Given the description of an element on the screen output the (x, y) to click on. 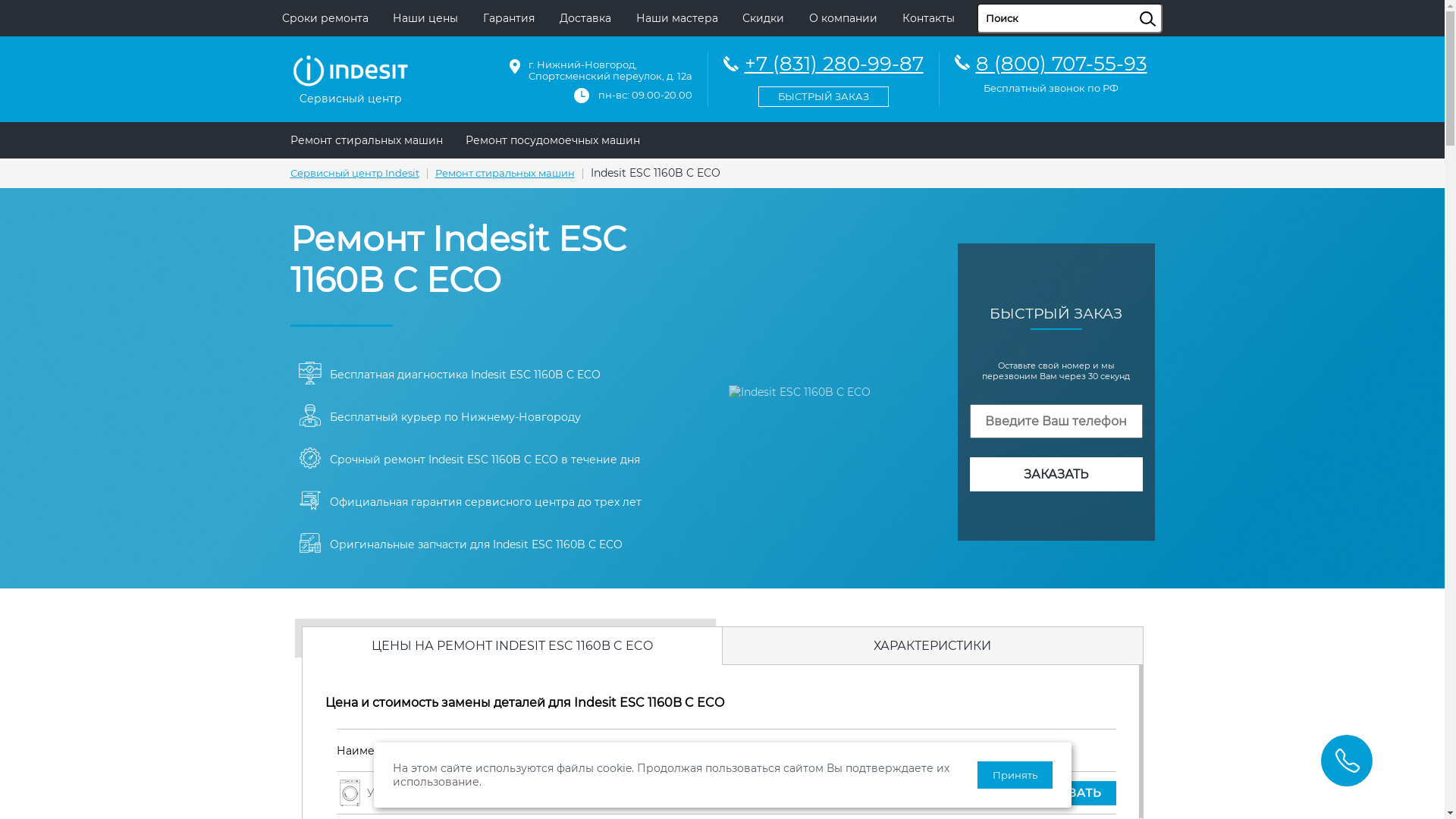
8 (800) 707-55-93 Element type: text (1060, 63)
+7 (831) 280-99-87 Element type: text (823, 77)
sisea.search Element type: text (1165, 3)
